Given the description of an element on the screen output the (x, y) to click on. 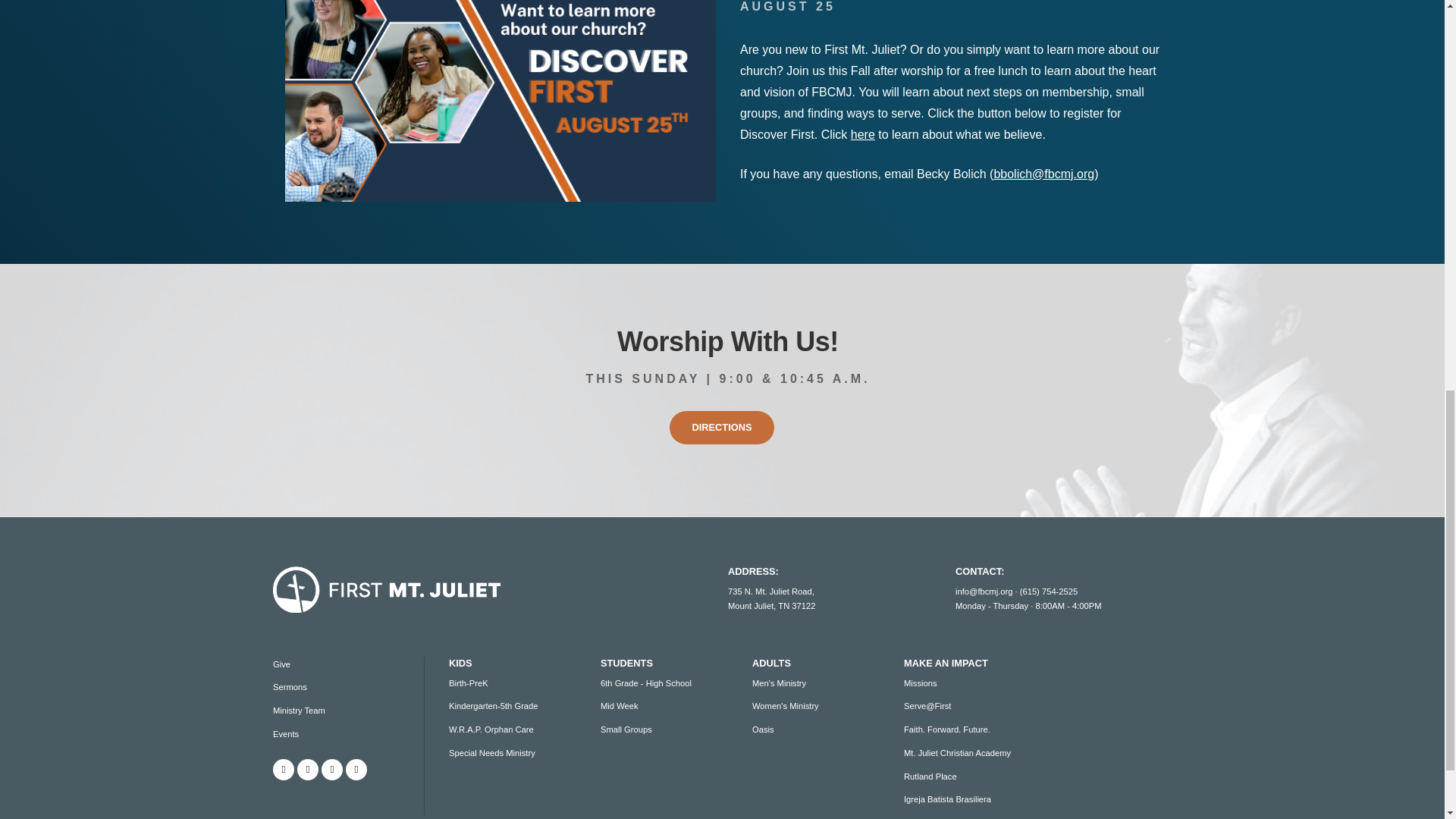
Events (285, 733)
Birth-PreK (467, 682)
W.R.A.P. Orphan Care (491, 728)
Give (281, 664)
DIRECTIONS (721, 427)
here (862, 133)
Kindergarten-5th Grade (493, 705)
Ministry Team (298, 709)
Sermons (290, 686)
